Given the description of an element on the screen output the (x, y) to click on. 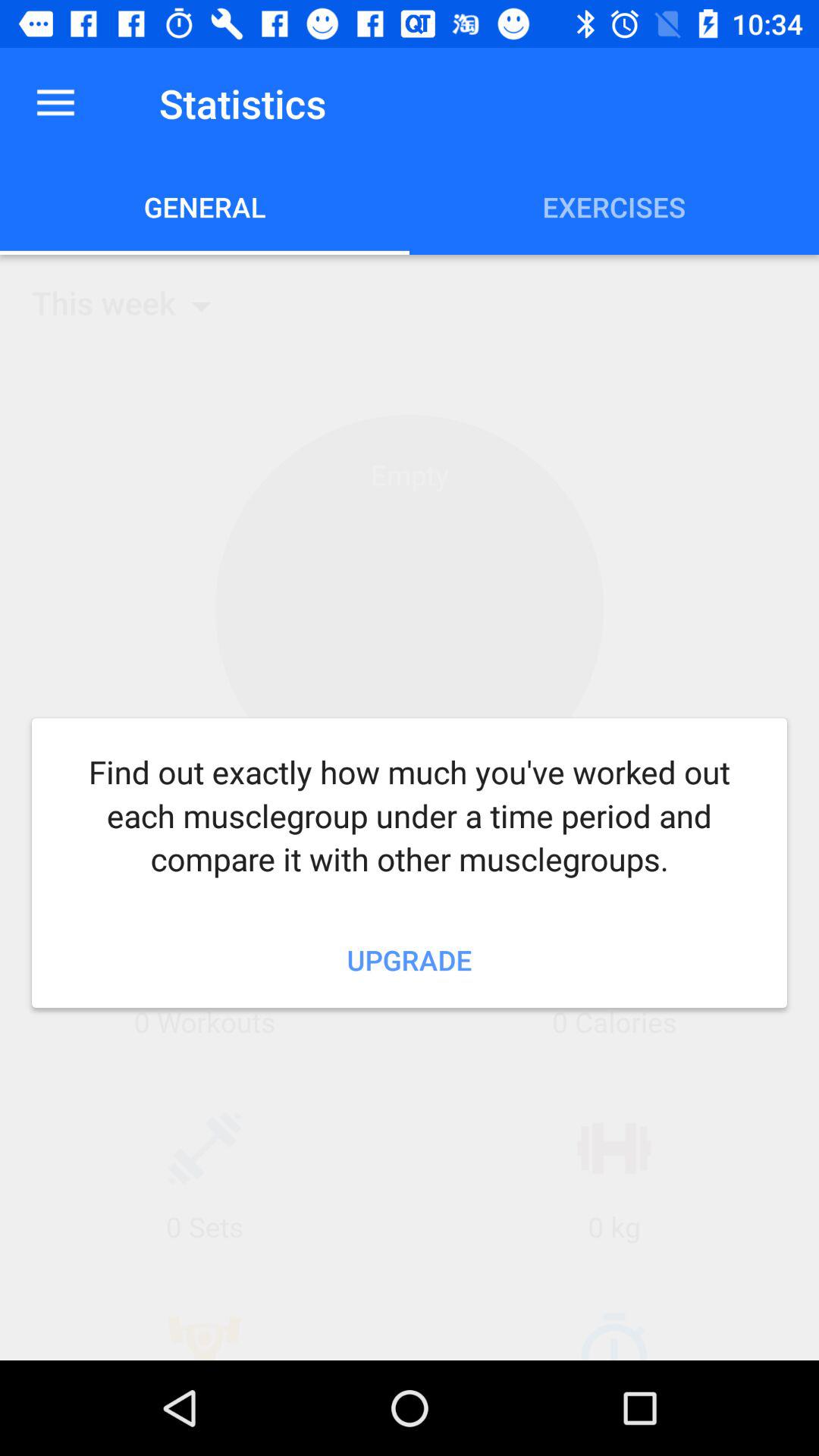
scroll until the upgrade icon (409, 959)
